Given the description of an element on the screen output the (x, y) to click on. 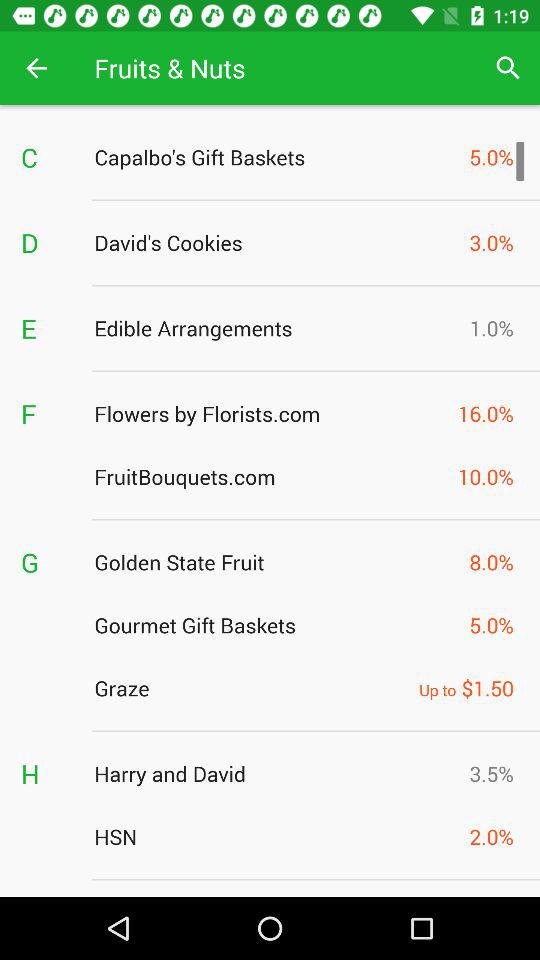
press fruitbouquets.com item (270, 476)
